Given the description of an element on the screen output the (x, y) to click on. 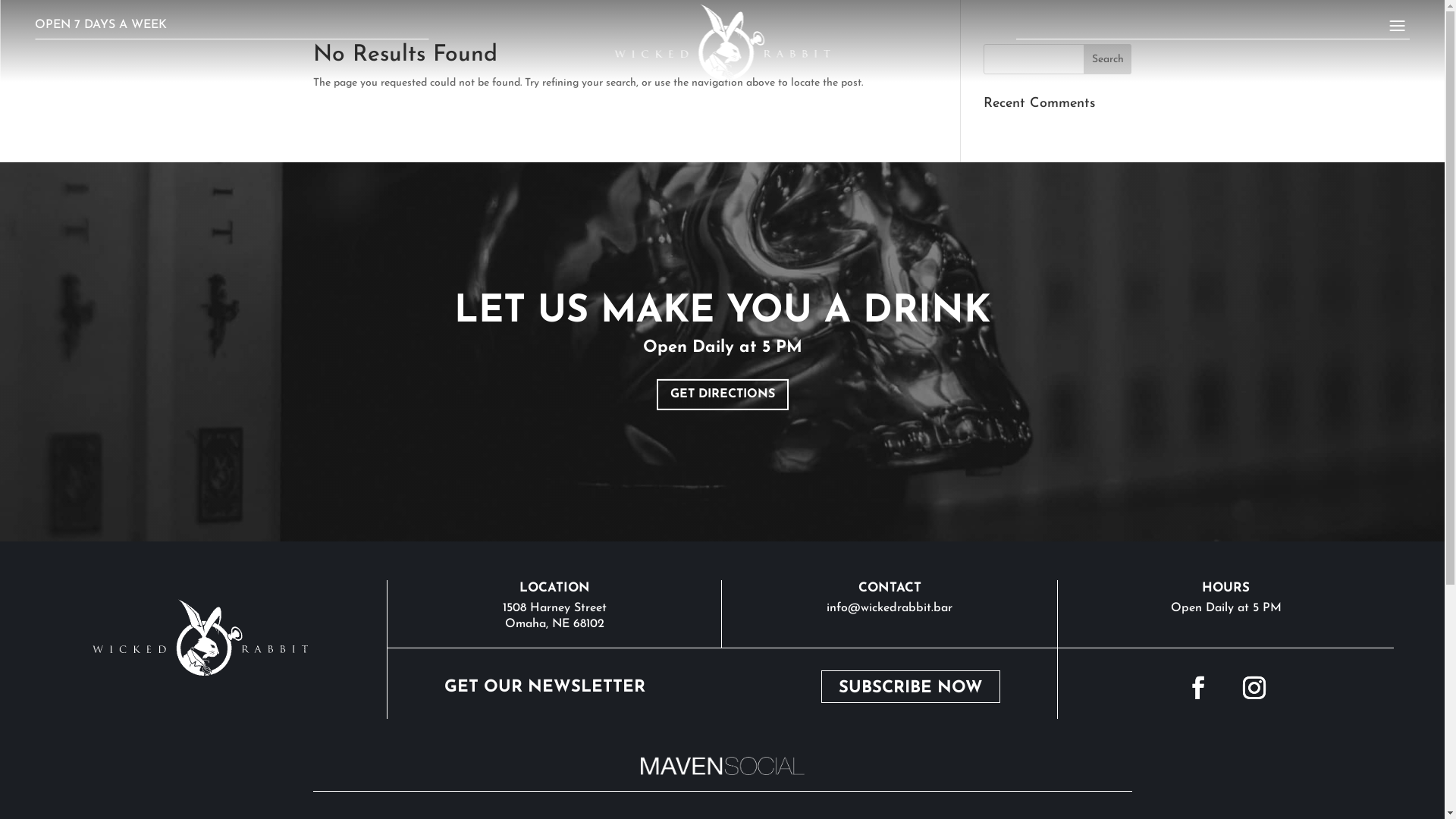
Follow on Facebook Element type: hover (1197, 687)
mavensocial_logo_white Element type: hover (721, 765)
GET DIRECTIONS Element type: text (722, 394)
wickedrabbit_logo_white_rezised Element type: hover (199, 637)
Follow on Instagram Element type: hover (1254, 687)
info@wickedrabbit.bar Element type: text (889, 608)
SUBSCRIBE NOW Element type: text (910, 686)
wickedrabbit_logo_white_rezised Element type: hover (721, 41)
Search Element type: text (1107, 58)
